Given the description of an element on the screen output the (x, y) to click on. 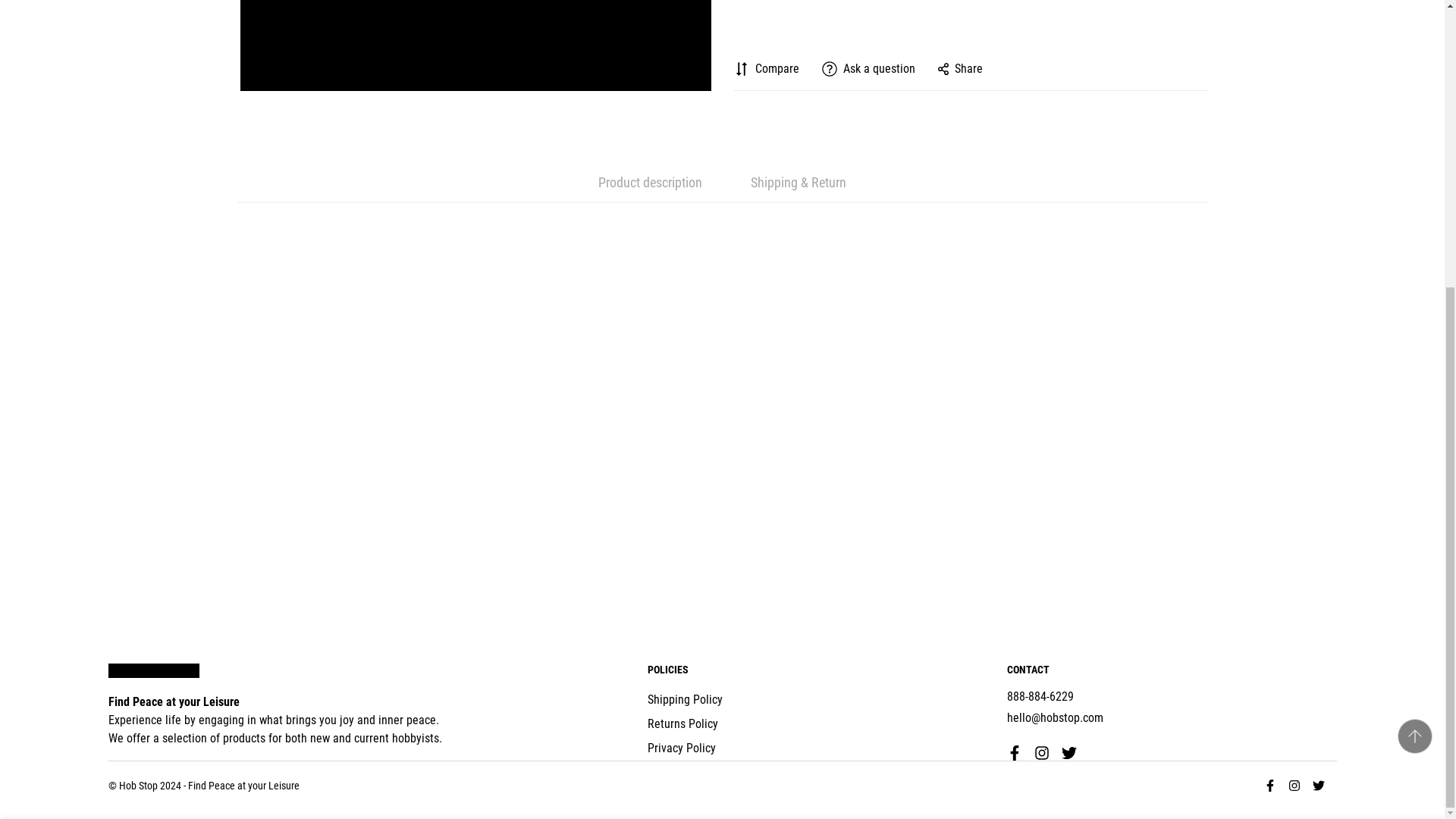
1 (1020, 412)
